Given the description of an element on the screen output the (x, y) to click on. 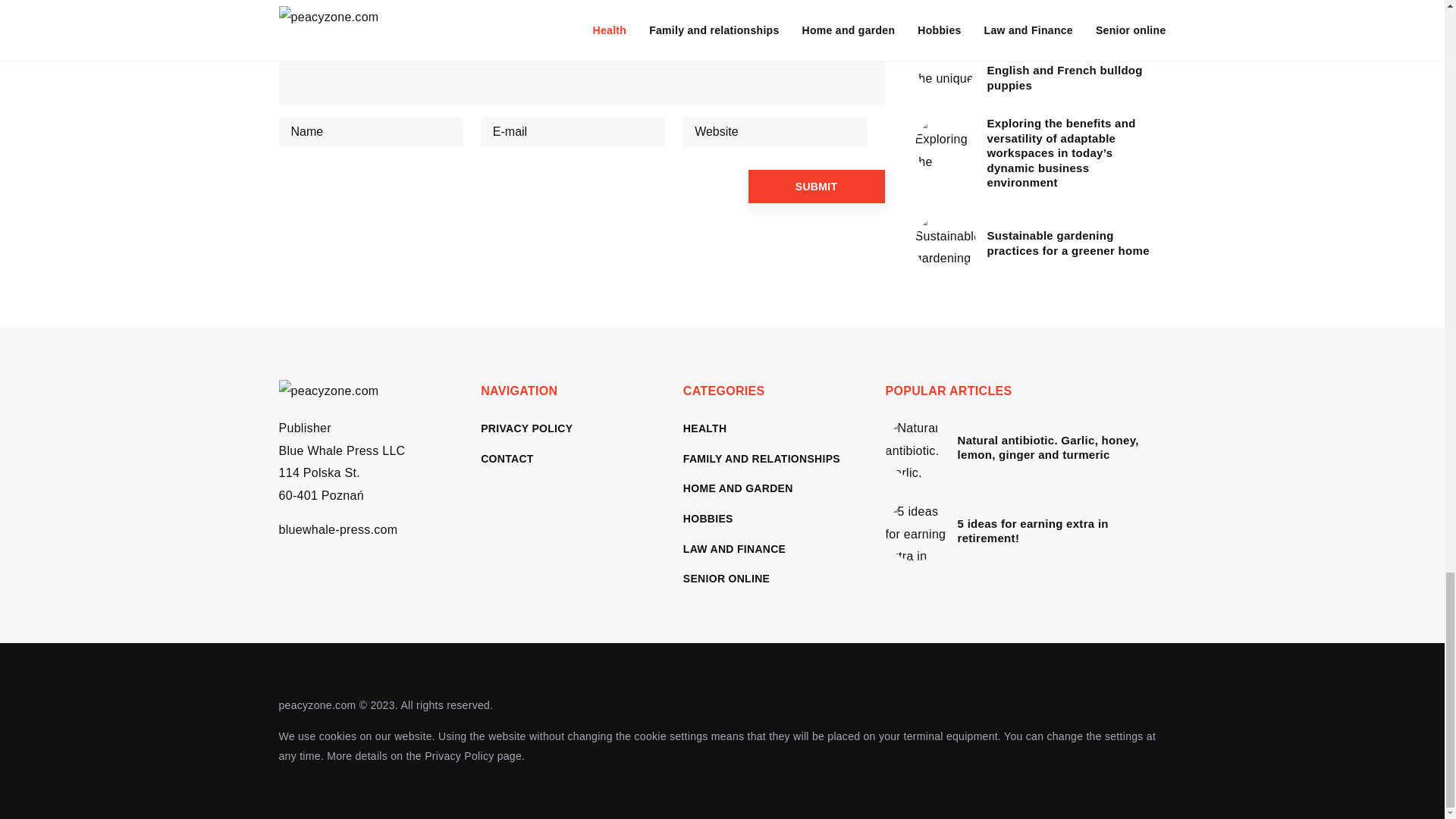
Submit (815, 186)
Submit (815, 186)
